Given the description of an element on the screen output the (x, y) to click on. 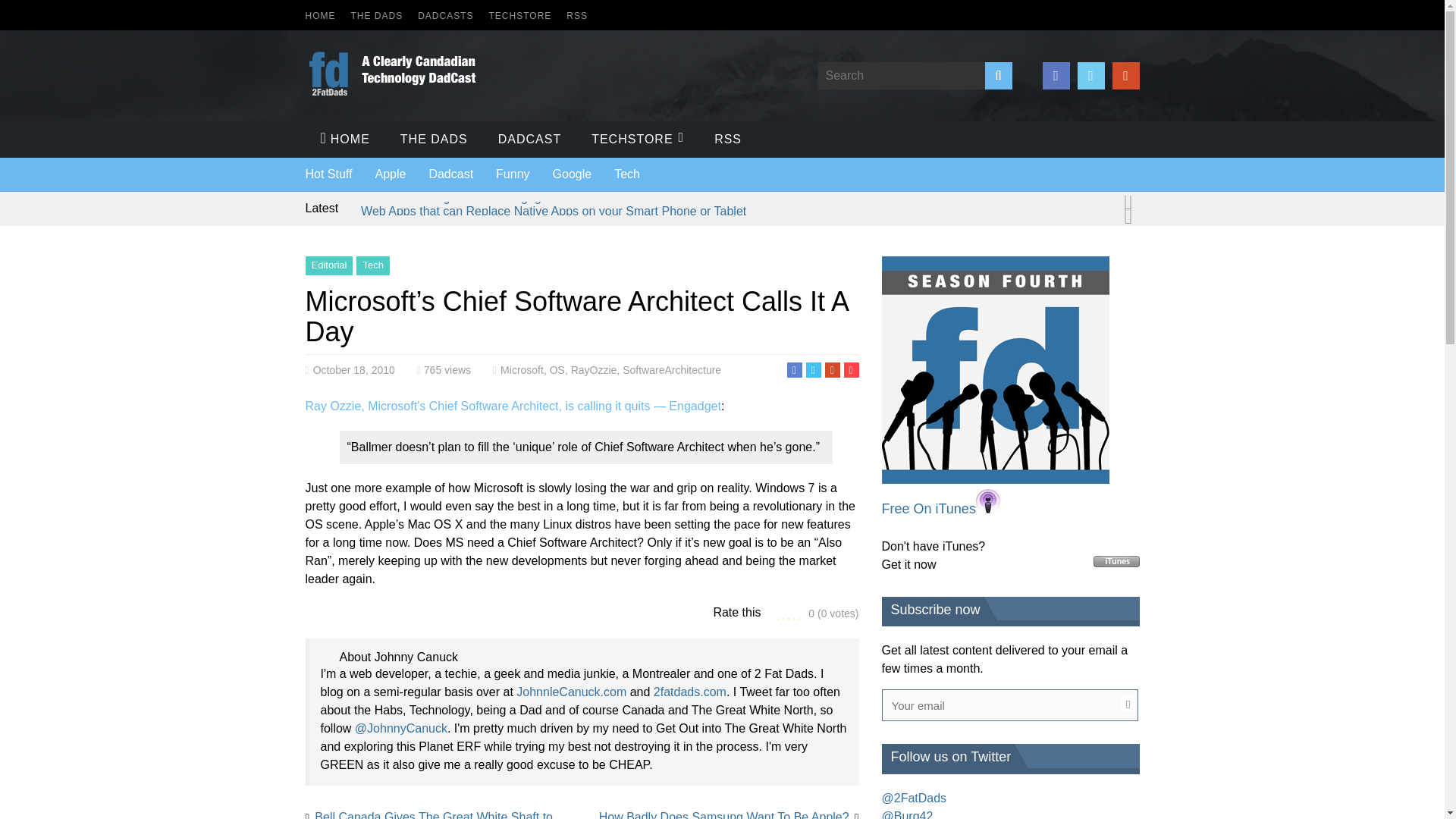
DADCAST (529, 139)
RSS (577, 15)
RSS (727, 139)
HOME (344, 139)
Rate it 1 star (778, 613)
HOME (319, 15)
Google (572, 173)
Apple (390, 173)
Rate it 2 stars (783, 613)
DADCASTS (445, 15)
Listen in iTunes (994, 479)
Rate it 3 stars (788, 613)
Rate it 4 stars (794, 613)
TECHSTORE (520, 15)
Mobile Browsing and User Engagement (468, 196)
